Given the description of an element on the screen output the (x, y) to click on. 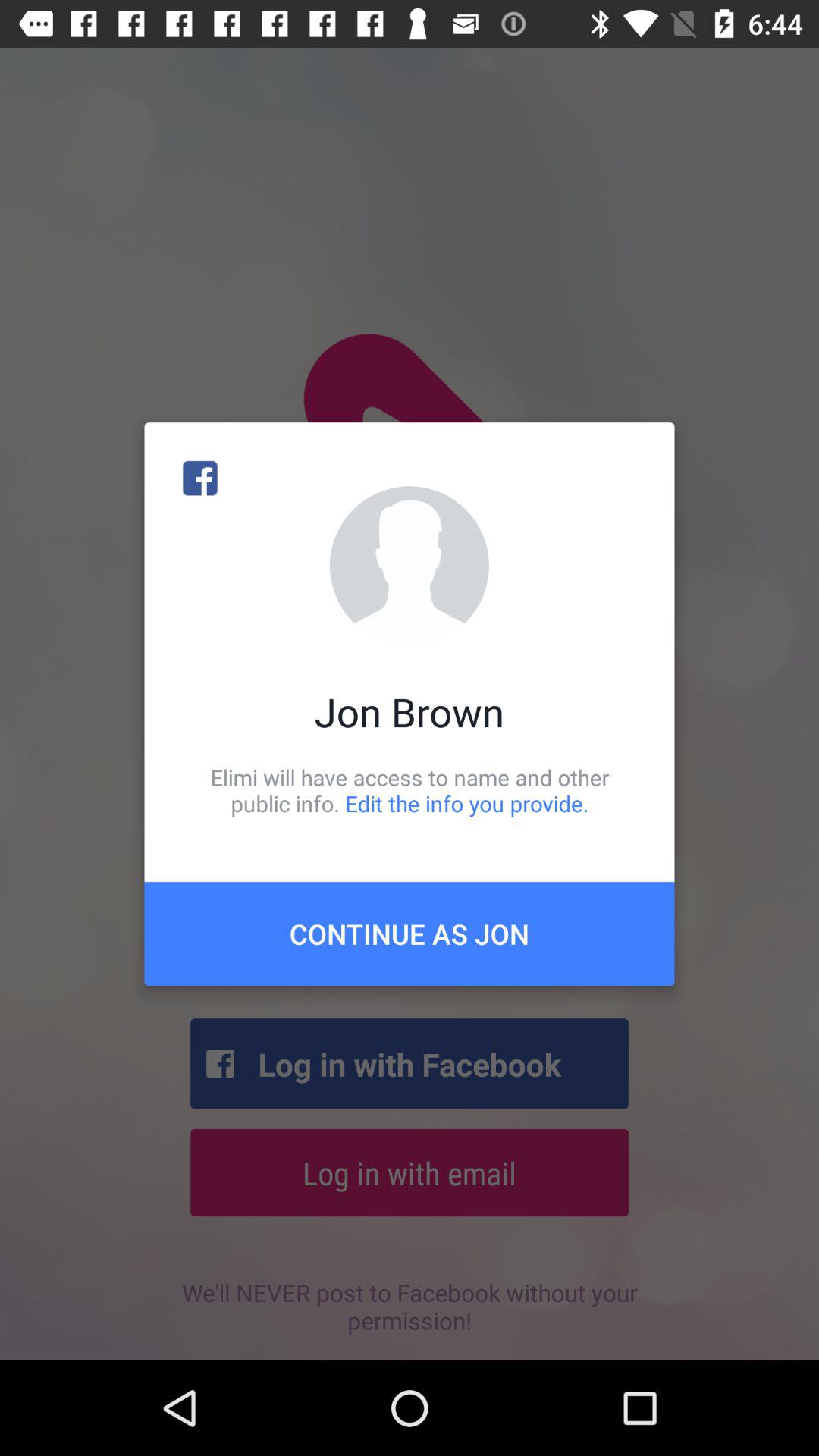
choose continue as jon (409, 933)
